Given the description of an element on the screen output the (x, y) to click on. 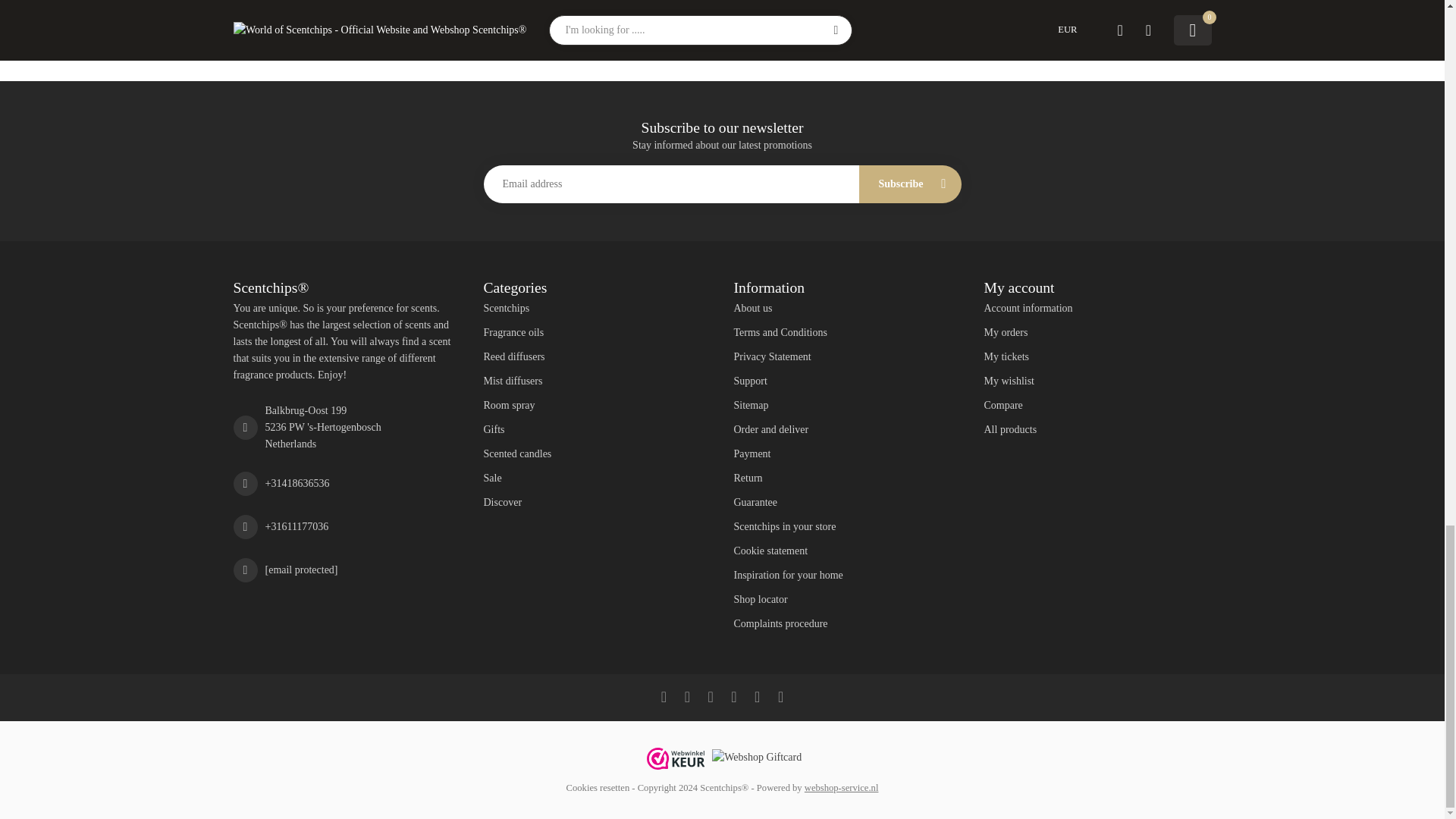
Scentchips in your store (846, 526)
Order and deliver (846, 429)
About us (846, 308)
Guarantee (846, 502)
Sitemap (846, 405)
Inspiration for your home (846, 575)
Terms and Conditions (846, 332)
Payment (846, 454)
Privacy Statement (846, 356)
Return (846, 478)
